Given the description of an element on the screen output the (x, y) to click on. 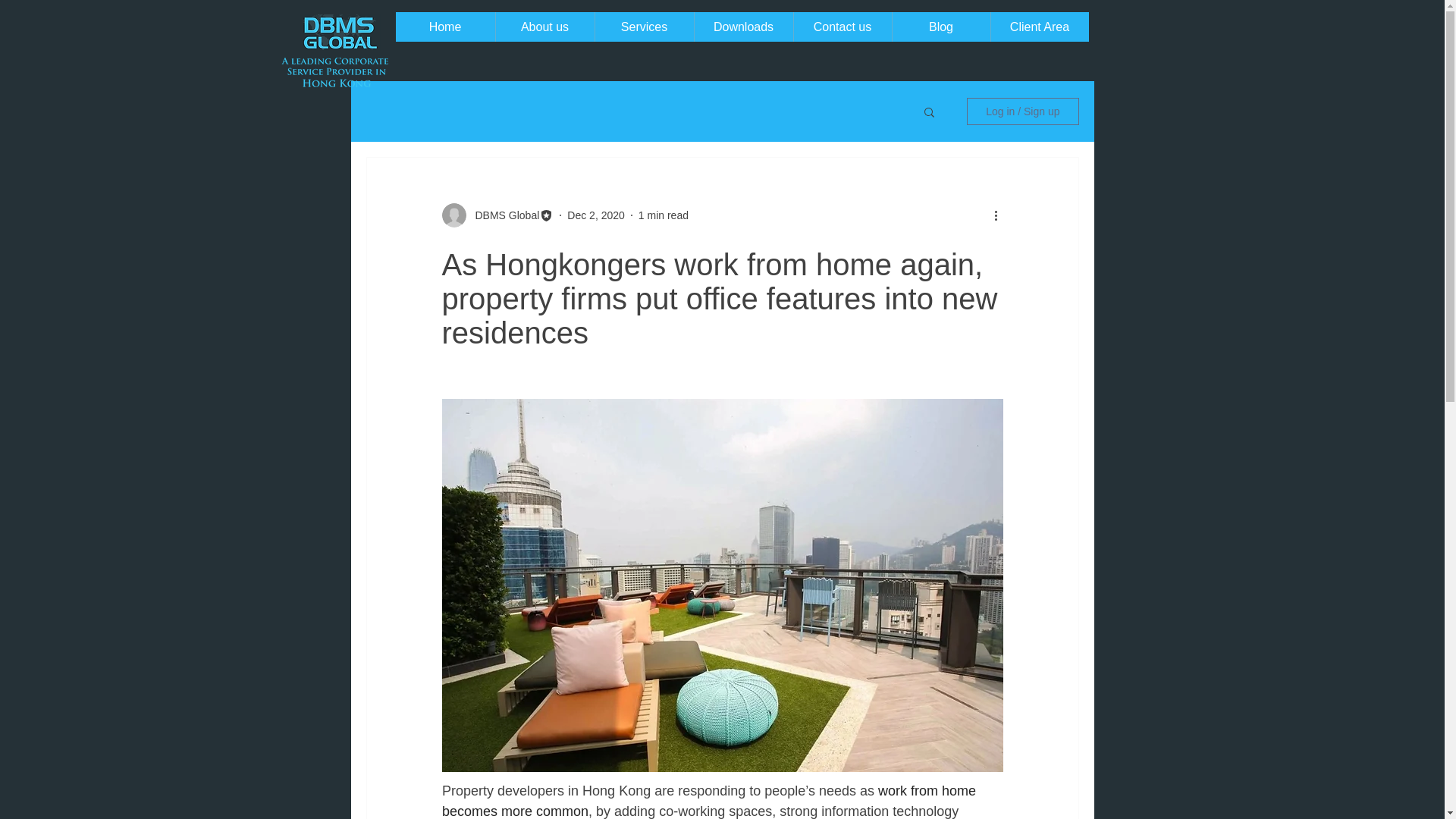
DBMS Global Mission-01.png (335, 71)
work from home becomes more common (709, 800)
1 min read (663, 215)
Services (644, 26)
DBMS Global (501, 215)
Client Area (1039, 26)
Contact us (842, 26)
About us (544, 26)
Blog (940, 26)
Home (445, 26)
Downloads (742, 26)
Dec 2, 2020 (595, 215)
